Given the description of an element on the screen output the (x, y) to click on. 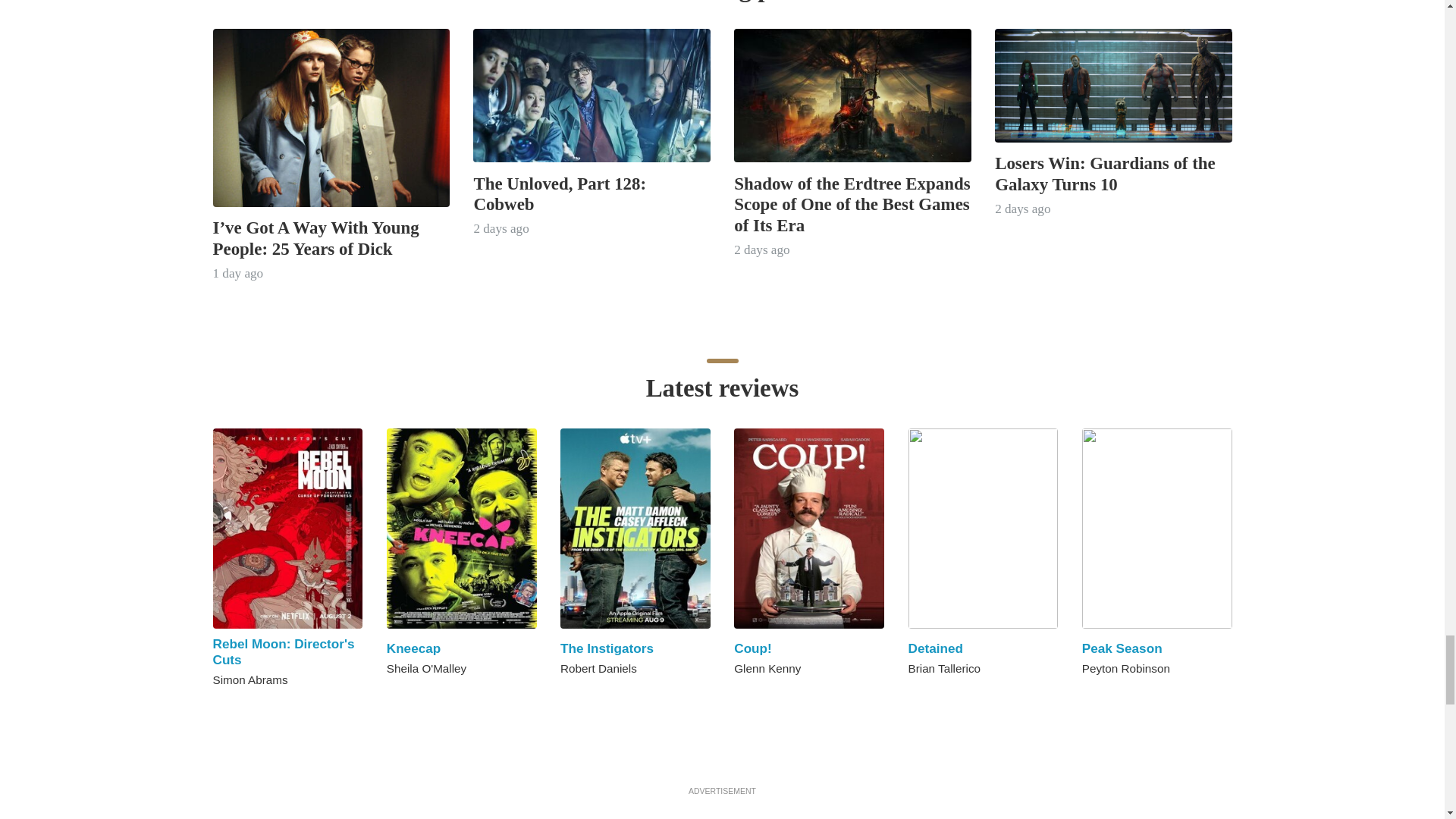
star-full (914, 695)
star-full (234, 707)
Kneecap (414, 648)
star-full (408, 695)
star-full (739, 695)
Rebel Moon: Director's Cuts (282, 651)
The Instigators (606, 648)
Losers Win: Guardians of the Galaxy Turns 10 (1104, 173)
star-full (424, 695)
Coup! (752, 648)
